Given the description of an element on the screen output the (x, y) to click on. 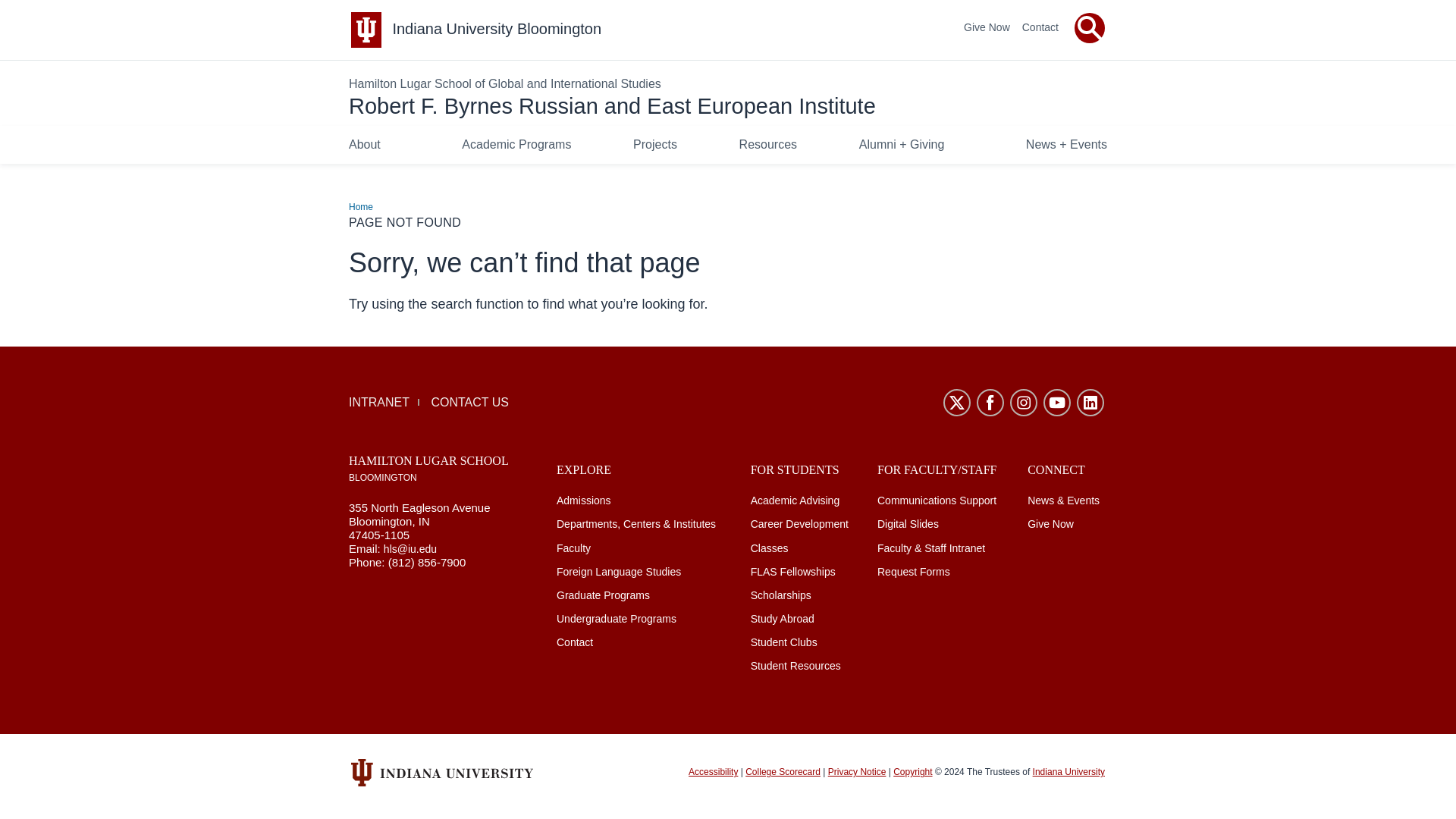
Indiana University Bloomington (496, 28)
Indiana University Bloomington (496, 28)
